Given the description of an element on the screen output the (x, y) to click on. 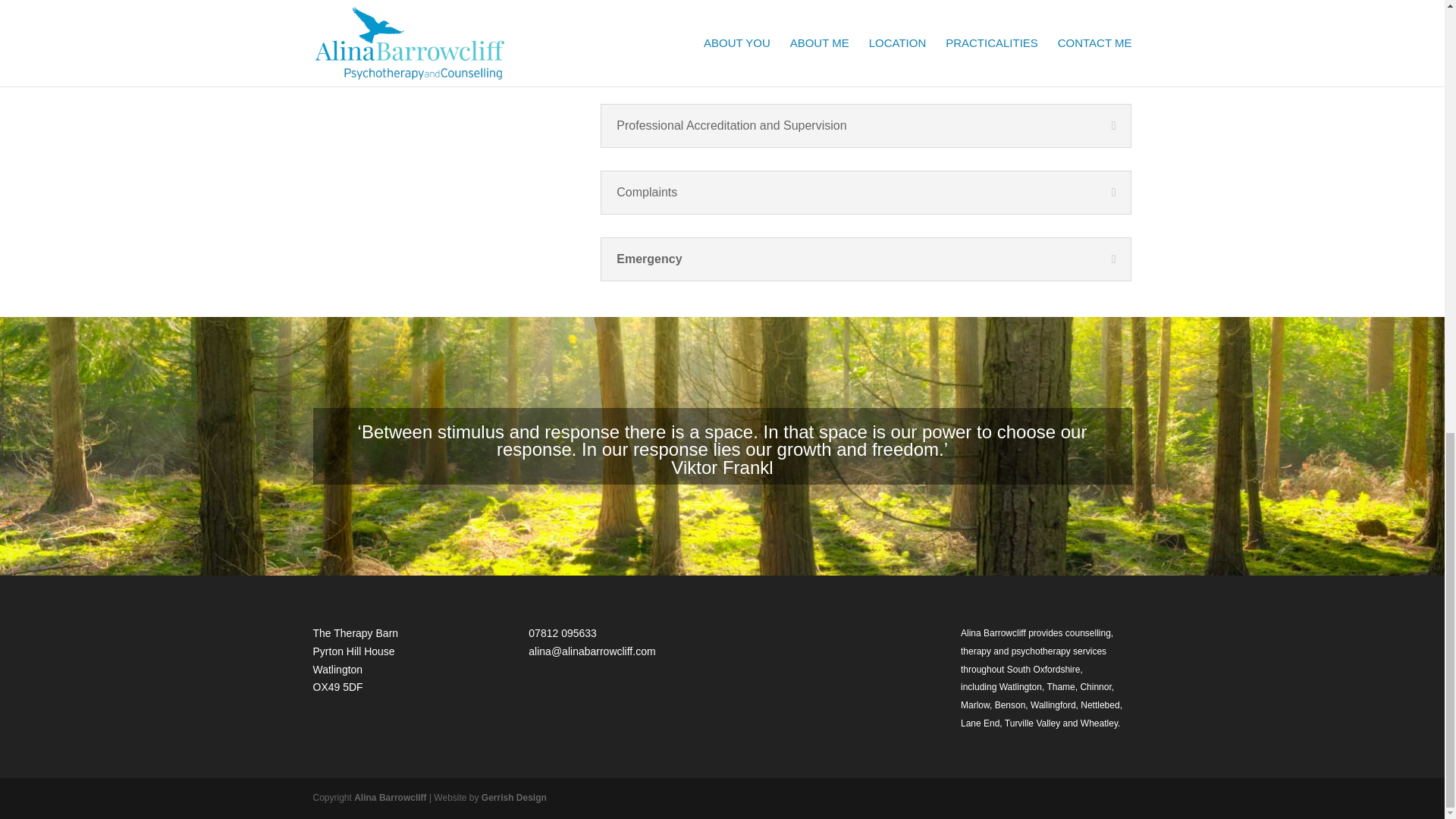
Gerrish Design (514, 797)
